Given the description of an element on the screen output the (x, y) to click on. 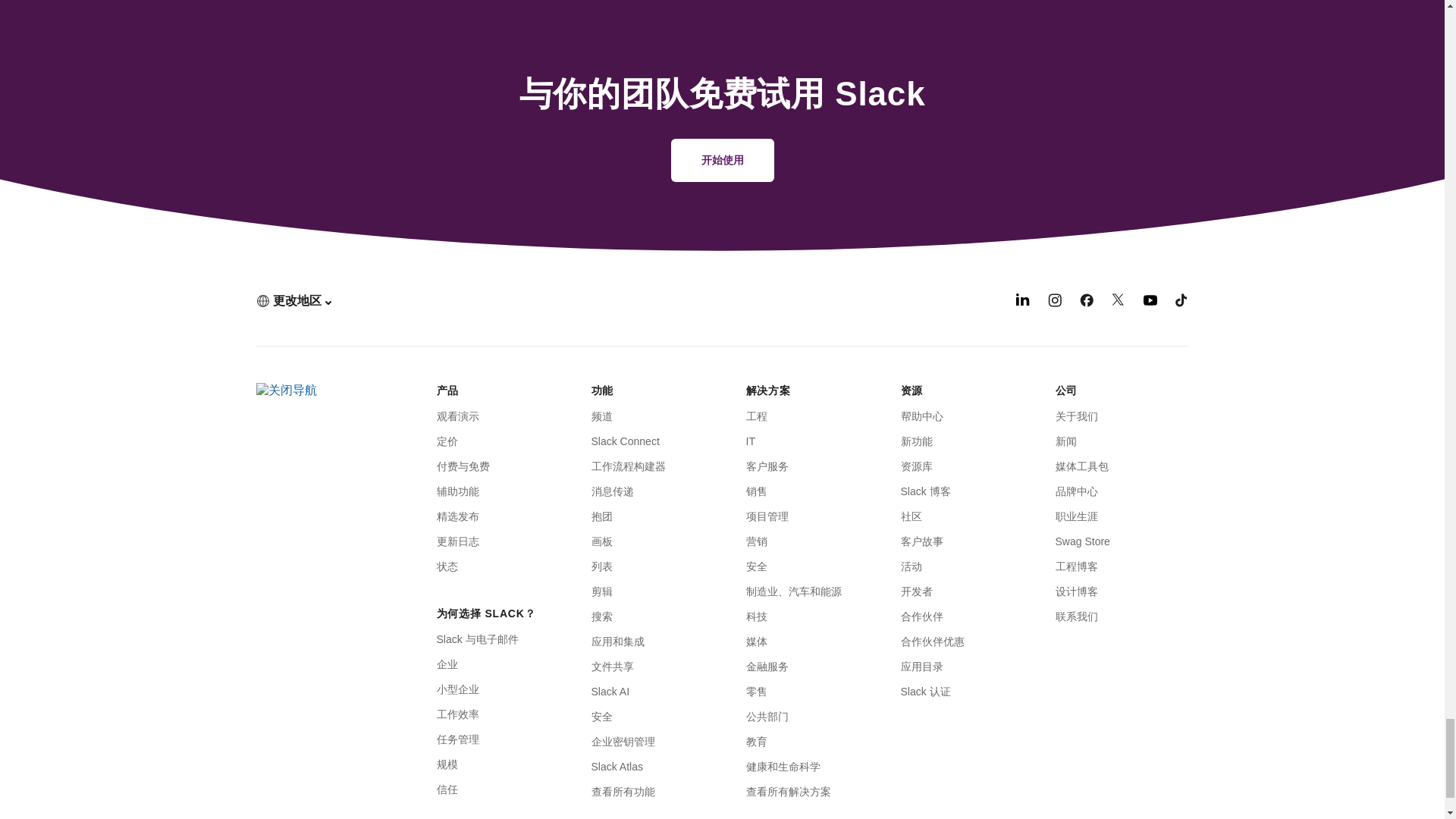
YouTube (1149, 302)
Facebook (1086, 302)
Instagram (1054, 302)
LinkedIn (1022, 302)
X (1118, 302)
TikTok (1181, 302)
